Given the description of an element on the screen output the (x, y) to click on. 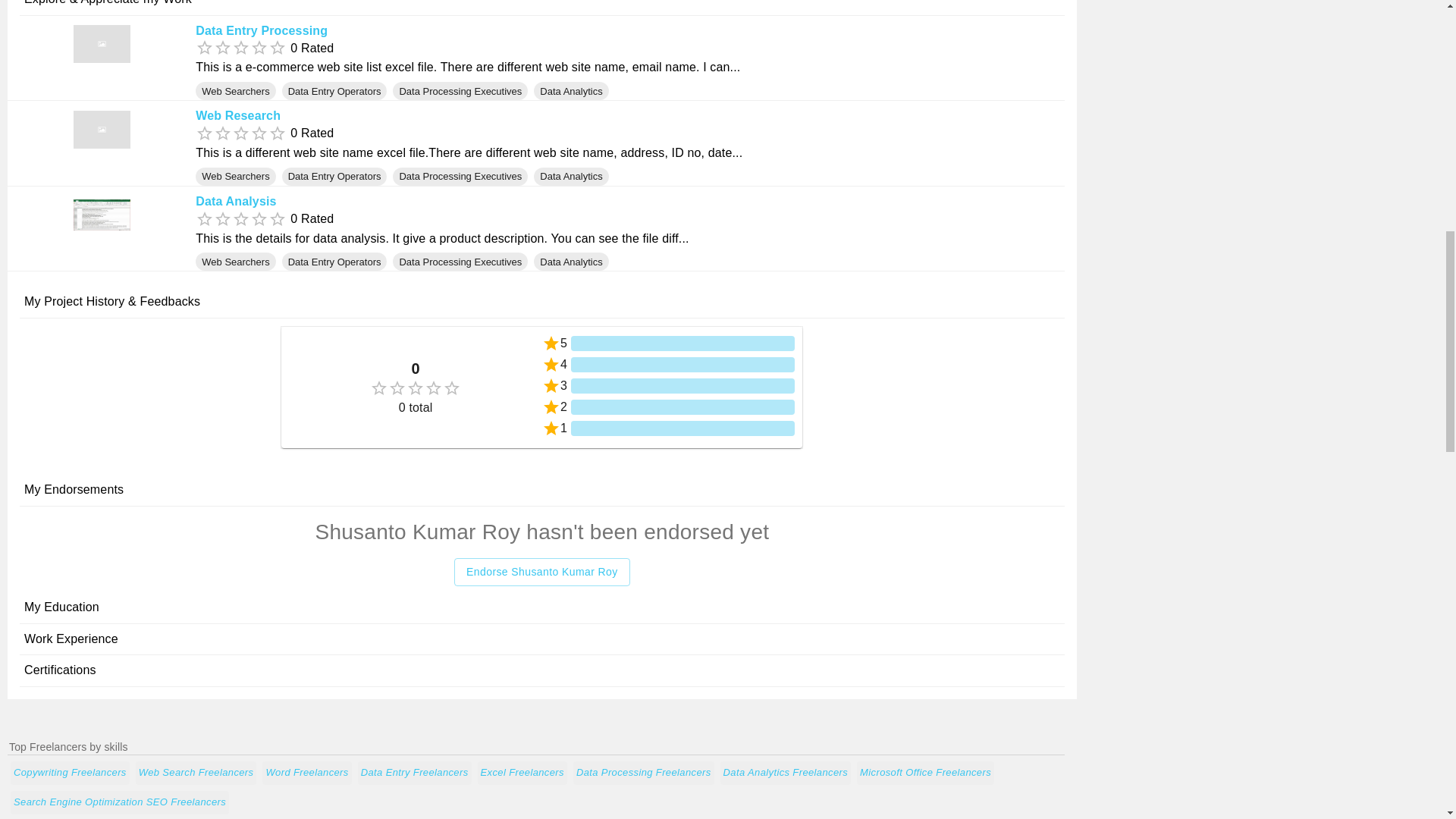
Web Research (238, 115)
Data Analysis (235, 201)
Data Entry Processing (261, 30)
